Given the description of an element on the screen output the (x, y) to click on. 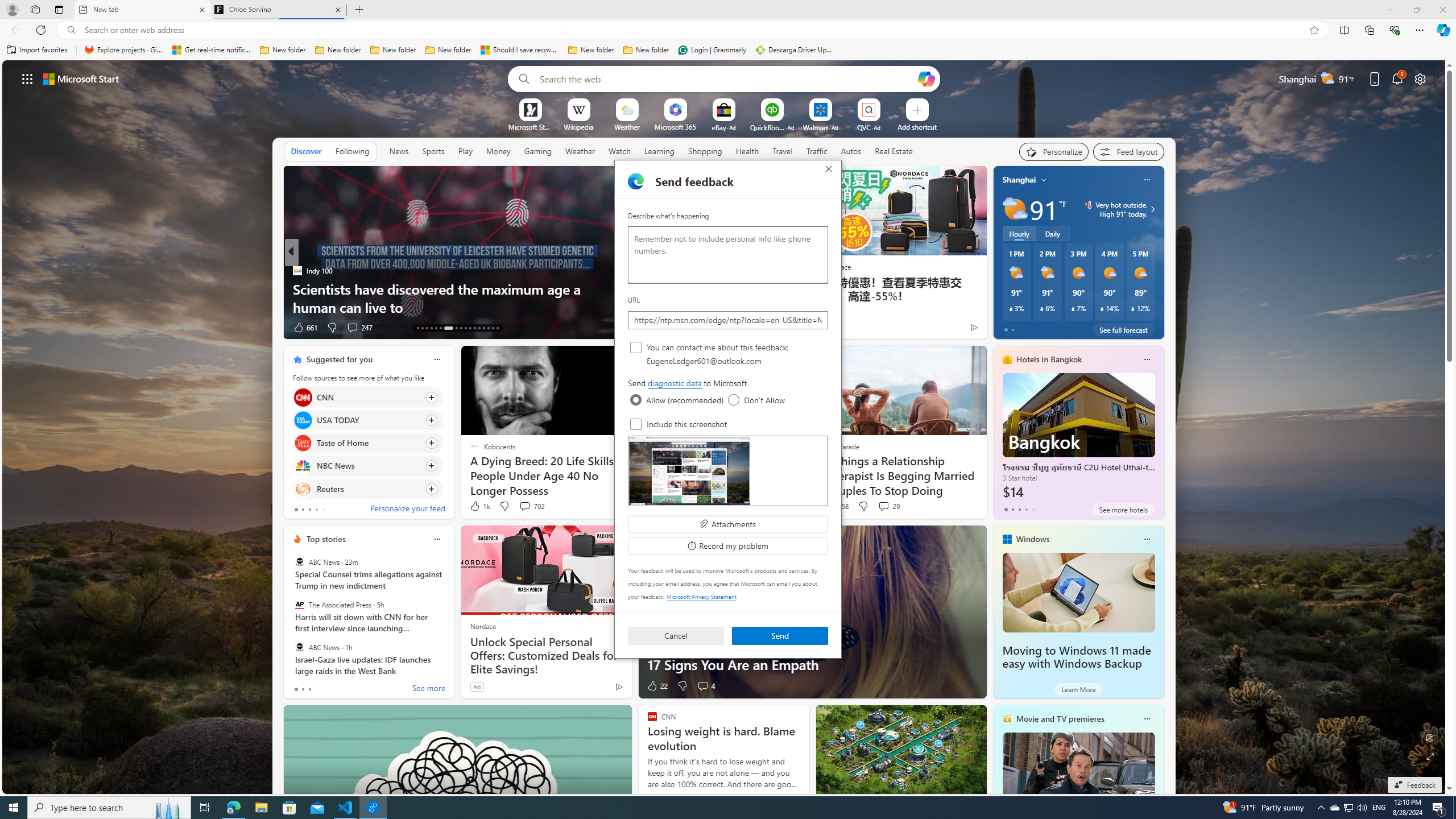
Click to follow source NBC News (367, 465)
AutomationID: tab-16 (431, 328)
View comments 58 Comment (1347, 807)
Daily (6, 327)
Class: icon-img (1052, 233)
File Explorer (1146, 718)
tab-2 (261, 807)
AutomationID: tab-19 (309, 689)
Shopping (448, 328)
tab-1 (705, 151)
Play (302, 689)
AutomationID: tab-18 (465, 151)
Show desktop (440, 328)
